Given the description of an element on the screen output the (x, y) to click on. 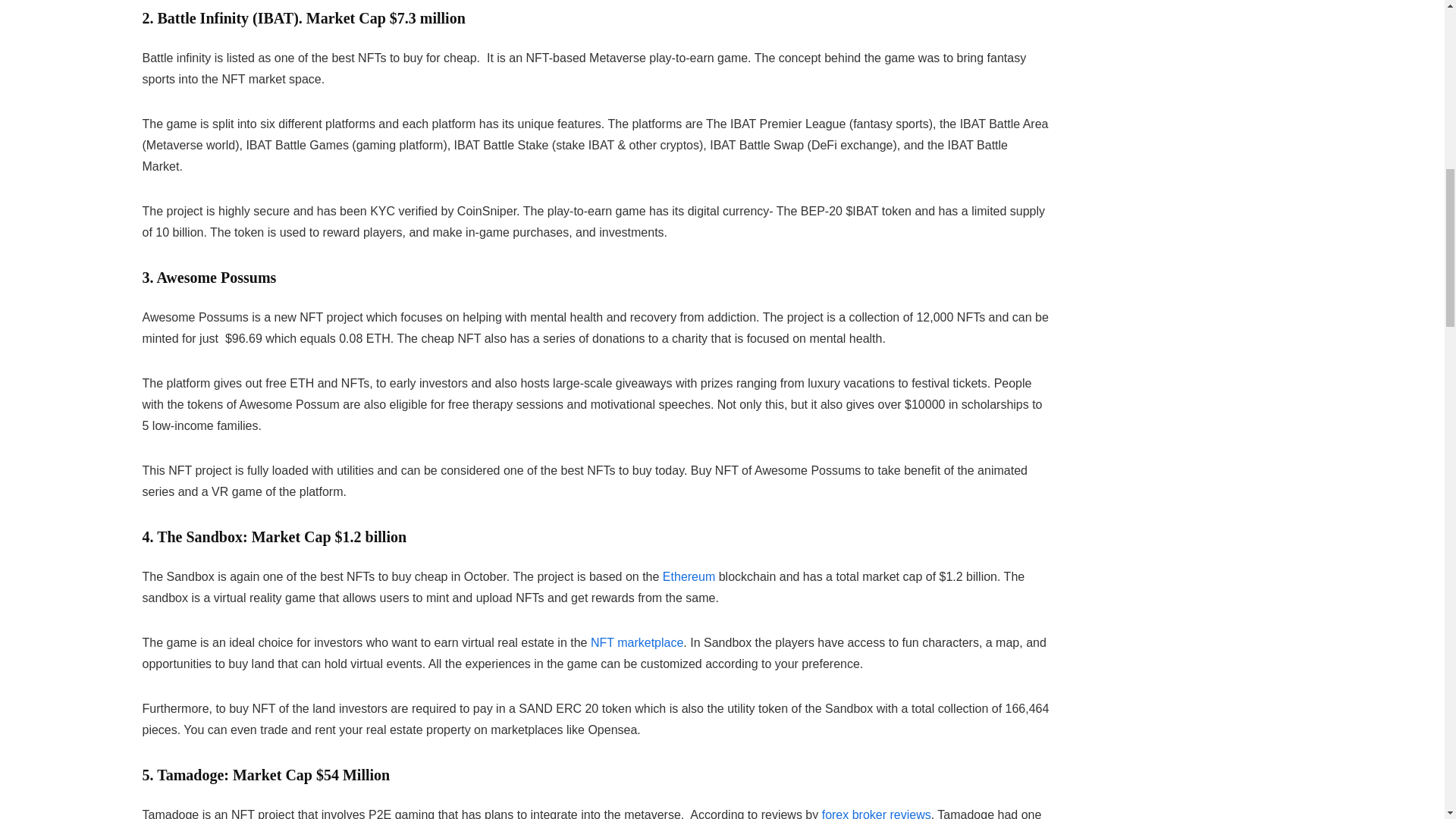
Ethereum (688, 576)
NFT marketplace (636, 642)
forex broker reviews (876, 813)
